Given the description of an element on the screen output the (x, y) to click on. 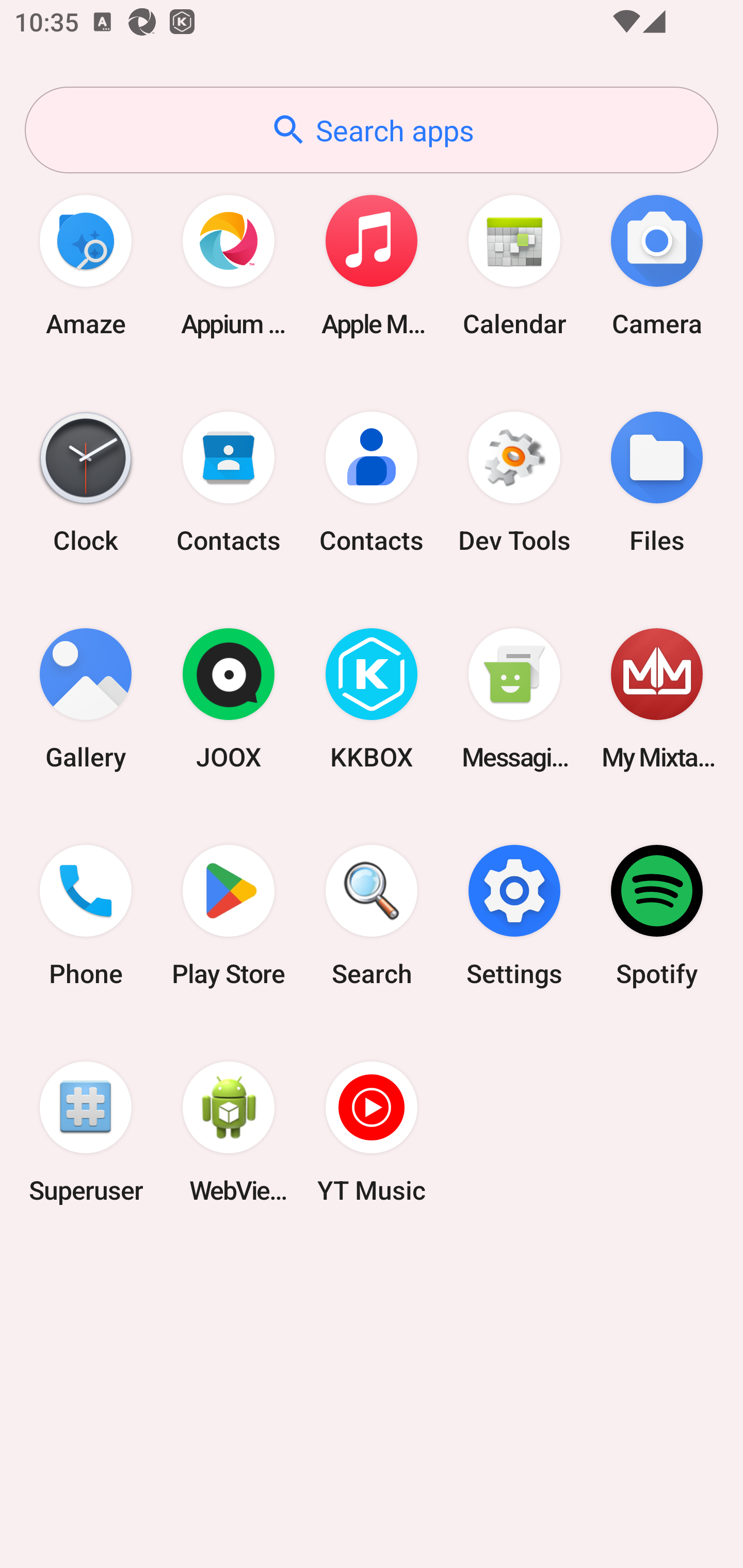
  Search apps (371, 130)
Amaze (85, 264)
Appium Settings (228, 264)
Apple Music (371, 264)
Calendar (514, 264)
Camera (656, 264)
Clock (85, 482)
Contacts (228, 482)
Contacts (371, 482)
Dev Tools (514, 482)
Files (656, 482)
Gallery (85, 699)
JOOX (228, 699)
KKBOX (371, 699)
Messaging (514, 699)
My Mixtapez (656, 699)
Phone (85, 915)
Play Store (228, 915)
Search (371, 915)
Settings (514, 915)
Spotify (656, 915)
Superuser (85, 1131)
WebView Browser Tester (228, 1131)
YT Music (371, 1131)
